Given the description of an element on the screen output the (x, y) to click on. 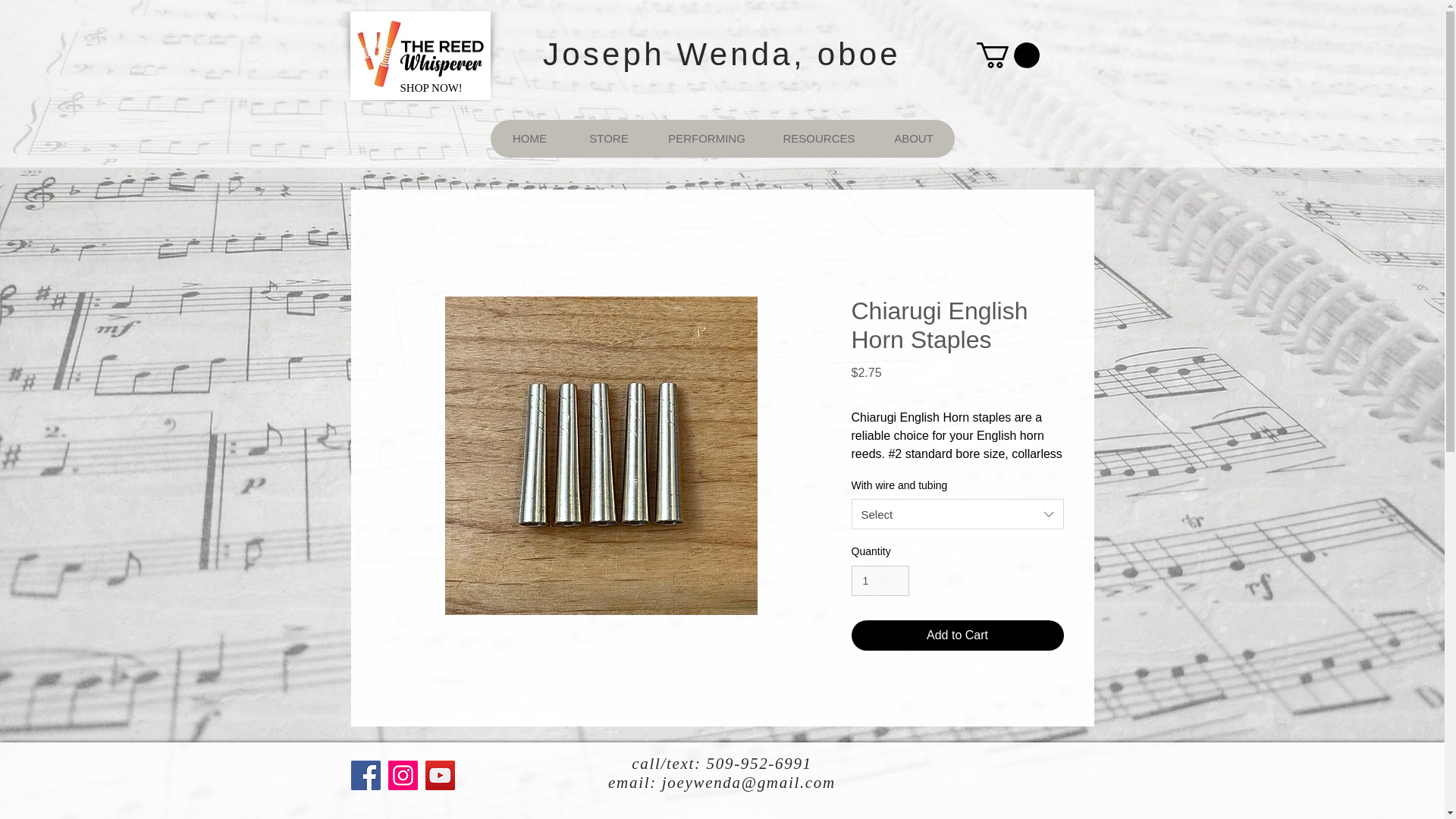
ABOUT (912, 138)
STORE (608, 138)
Add to Cart (956, 634)
RESOURCES (818, 138)
Joseph Wenda, oboe (722, 54)
HOME (529, 138)
Select (956, 513)
1 (879, 581)
